Given the description of an element on the screen output the (x, y) to click on. 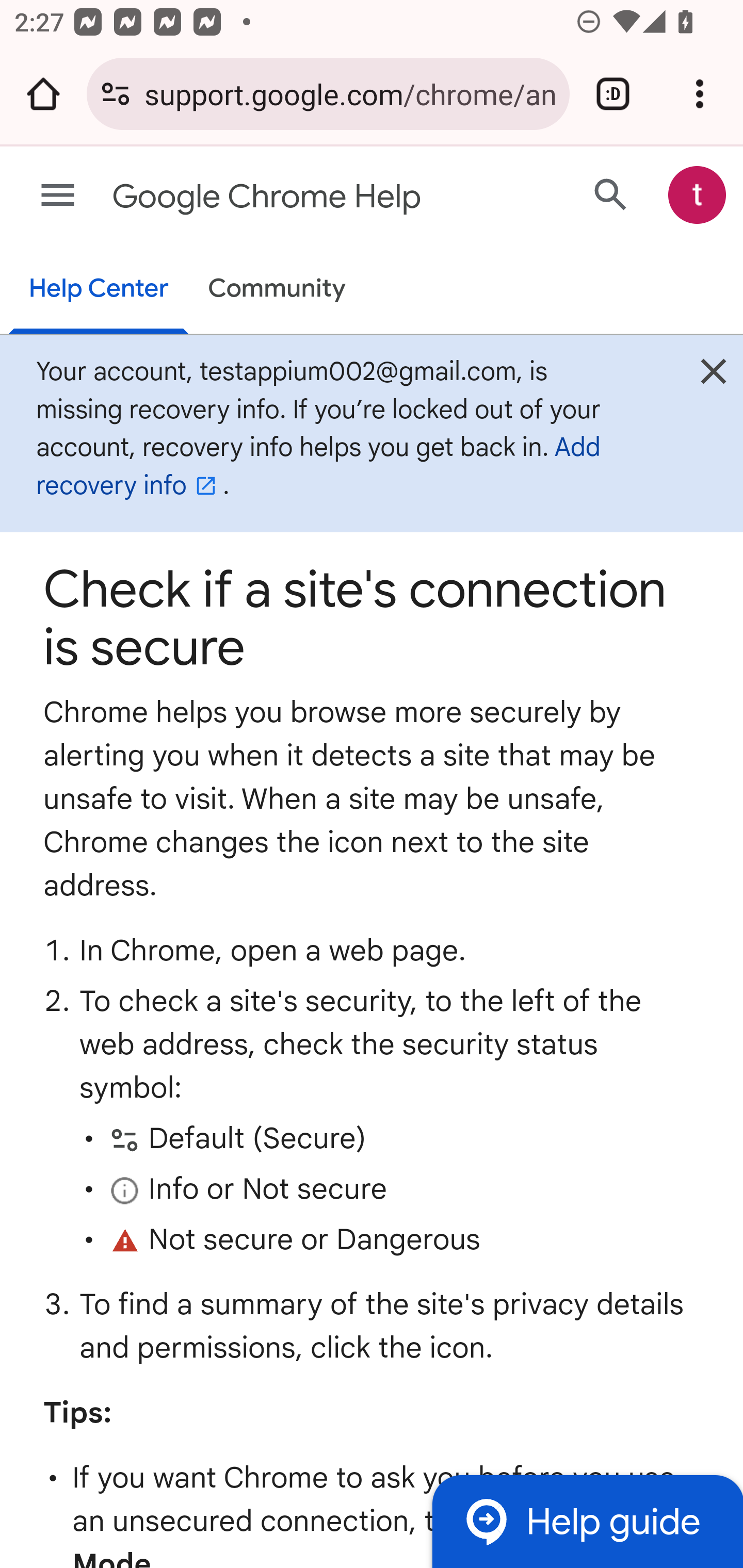
Open the home page (43, 93)
Connection is secure (115, 93)
Switch or close tabs (612, 93)
Customize and control Google Chrome (699, 93)
Main menu (58, 195)
Google Chrome Help (292, 197)
Search Help Center (611, 194)
Help Center (98, 289)
Community (276, 289)
Close (713, 376)
Add recovery info (318, 467)
Help guide (587, 1520)
